Given the description of an element on the screen output the (x, y) to click on. 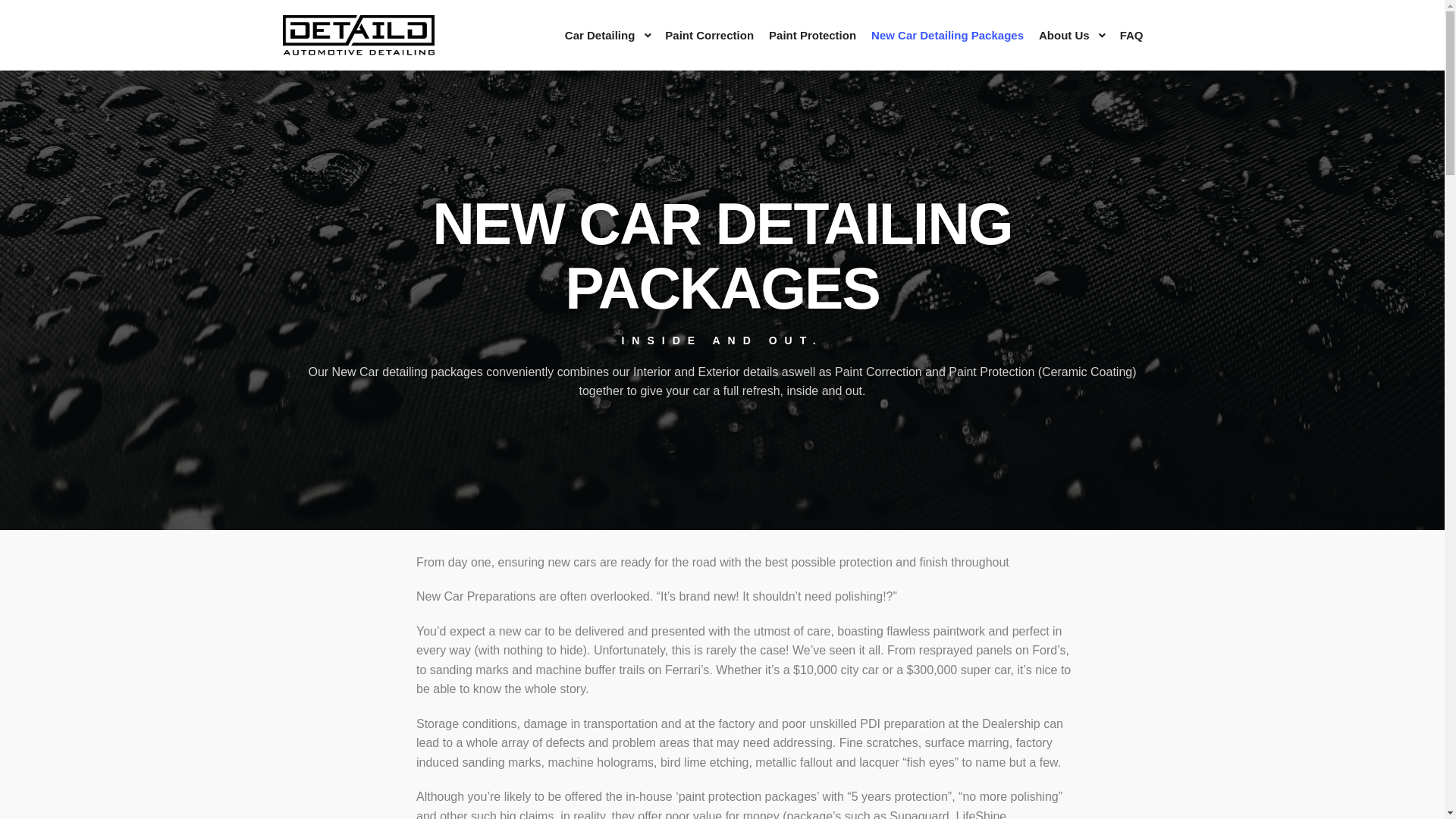
Paint Protection Element type: text (812, 35)
About Us Element type: text (1061, 35)
Car Detailing Element type: text (597, 35)
Paint Correction Element type: text (709, 35)
New Car Detailing Packages Element type: text (947, 35)
DETAILD Automotive Detailing Element type: hover (357, 35)
FAQ Element type: text (1131, 35)
